Given the description of an element on the screen output the (x, y) to click on. 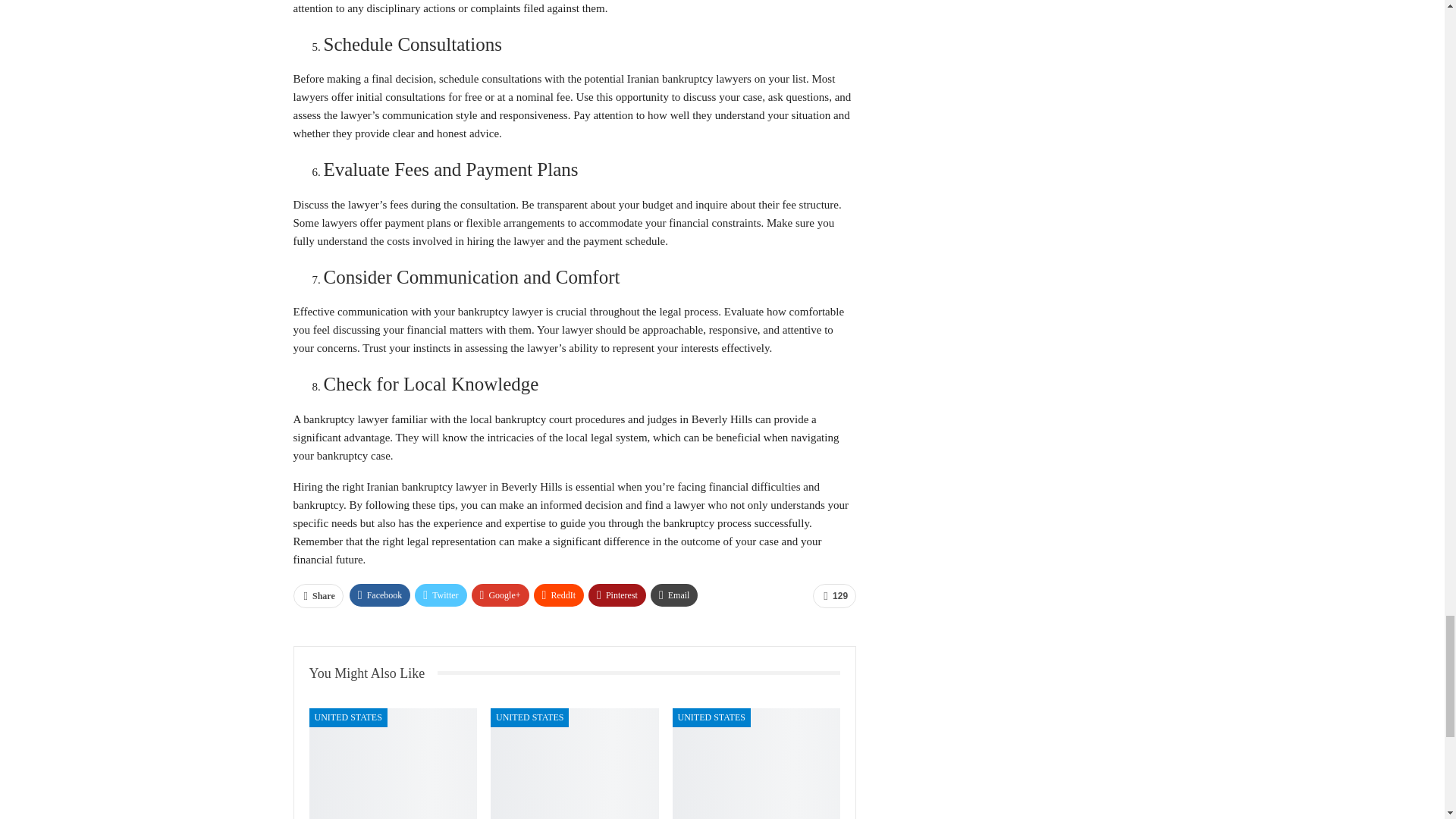
Twitter (439, 594)
Email (674, 594)
UNITED STATES (529, 717)
Facebook (379, 594)
UNITED STATES (347, 717)
Pinterest (617, 594)
UNITED STATES (711, 717)
ReddIt (559, 594)
